Given the description of an element on the screen output the (x, y) to click on. 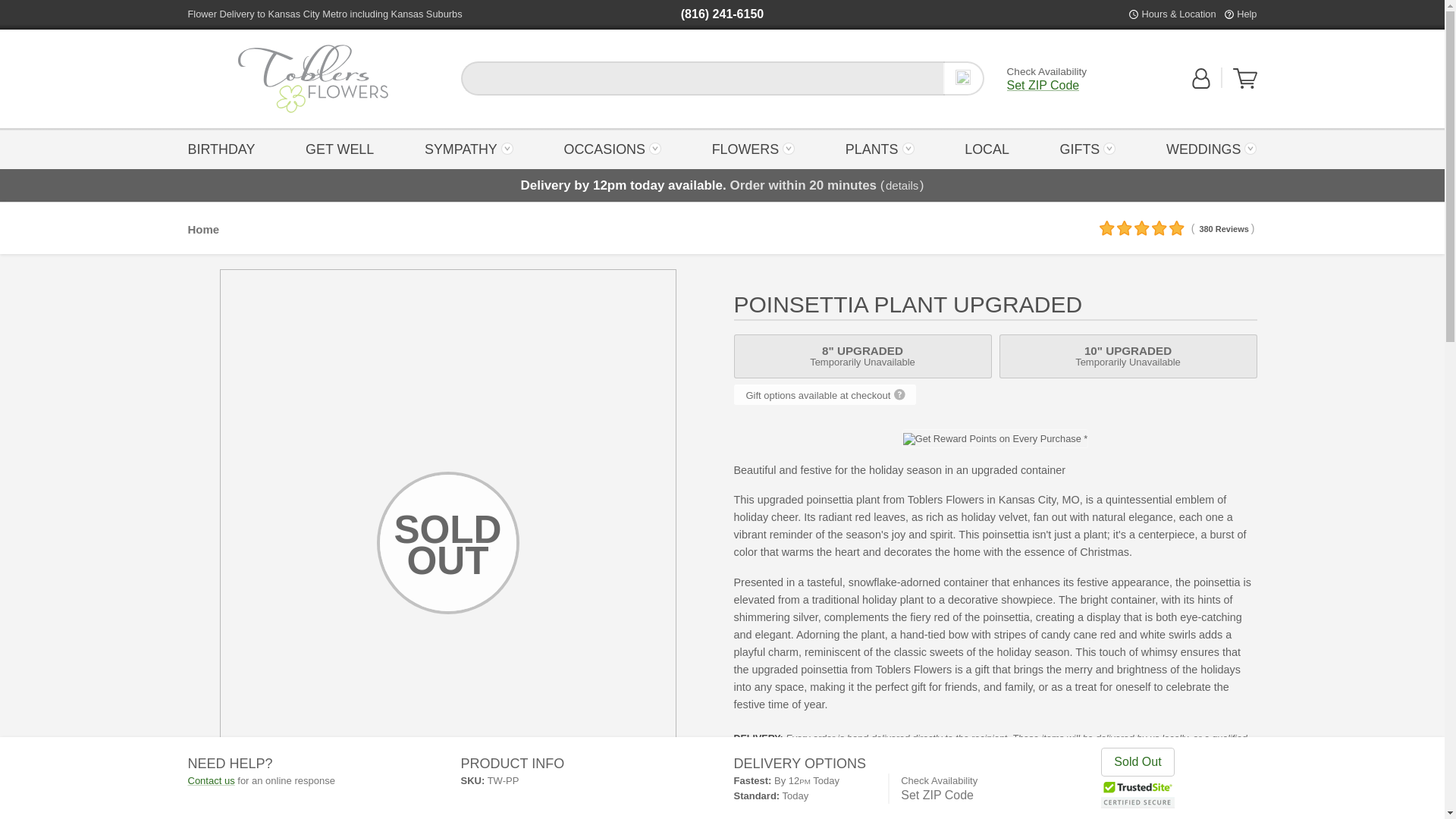
BIRTHDAY (225, 147)
GET WELL (339, 147)
OCCASIONS (611, 147)
SYMPATHY (468, 147)
View Your Shopping Cart (312, 79)
Search (1245, 85)
The Blossom Shop Logo (963, 78)
View Your Shopping Cart (313, 79)
Help (1245, 78)
